Given the description of an element on the screen output the (x, y) to click on. 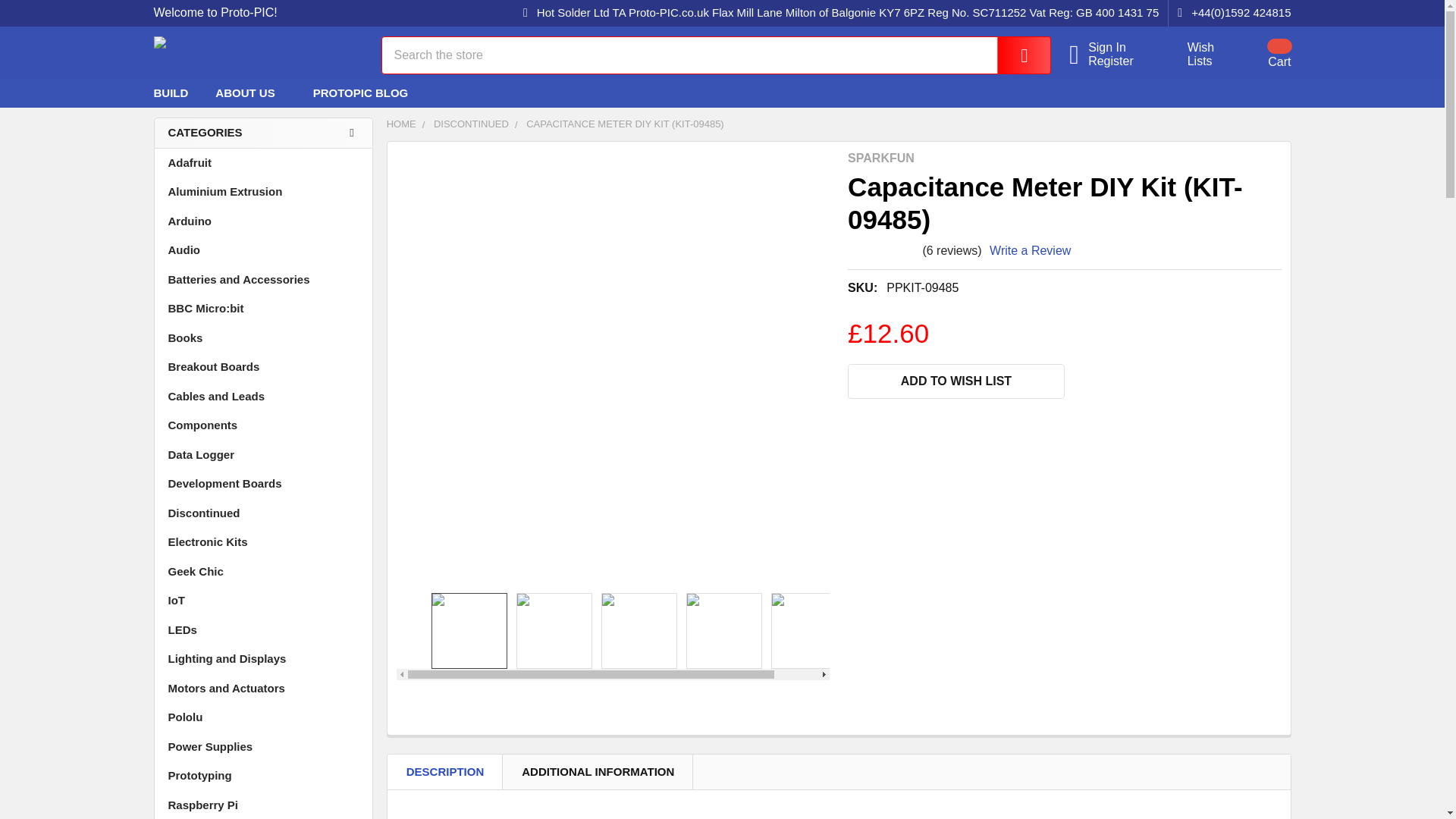
Rss (1249, 92)
Cart (1260, 54)
Search (1013, 55)
Register (1119, 60)
Pinterest (1276, 92)
Wish Lists (1192, 54)
Facebook (1194, 92)
Search (1013, 55)
Cart (1260, 54)
